Given the description of an element on the screen output the (x, y) to click on. 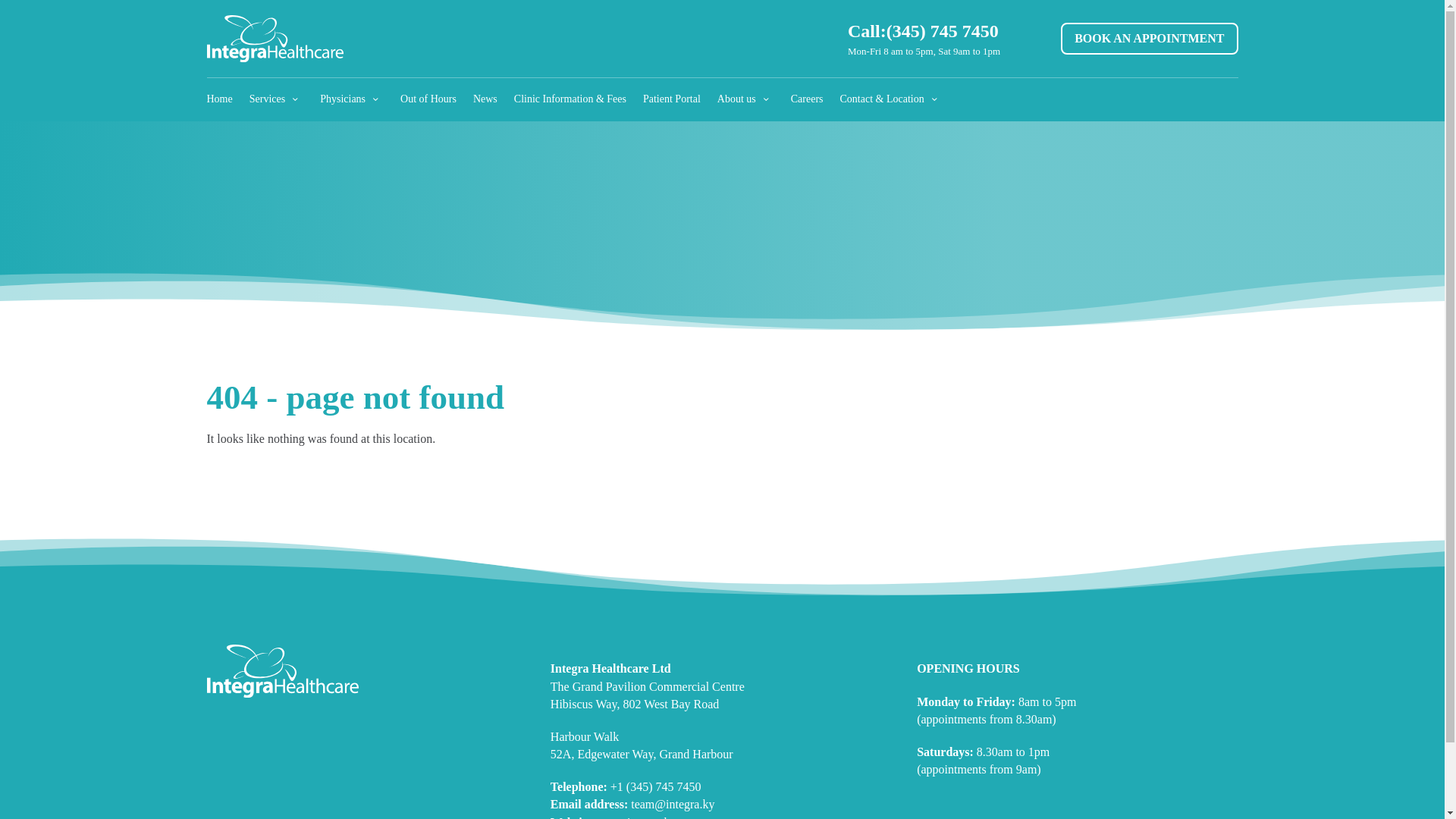
Physicians (352, 99)
BOOK AN APPOINTMENT (1149, 38)
Home (218, 99)
Services (275, 99)
